Given the description of an element on the screen output the (x, y) to click on. 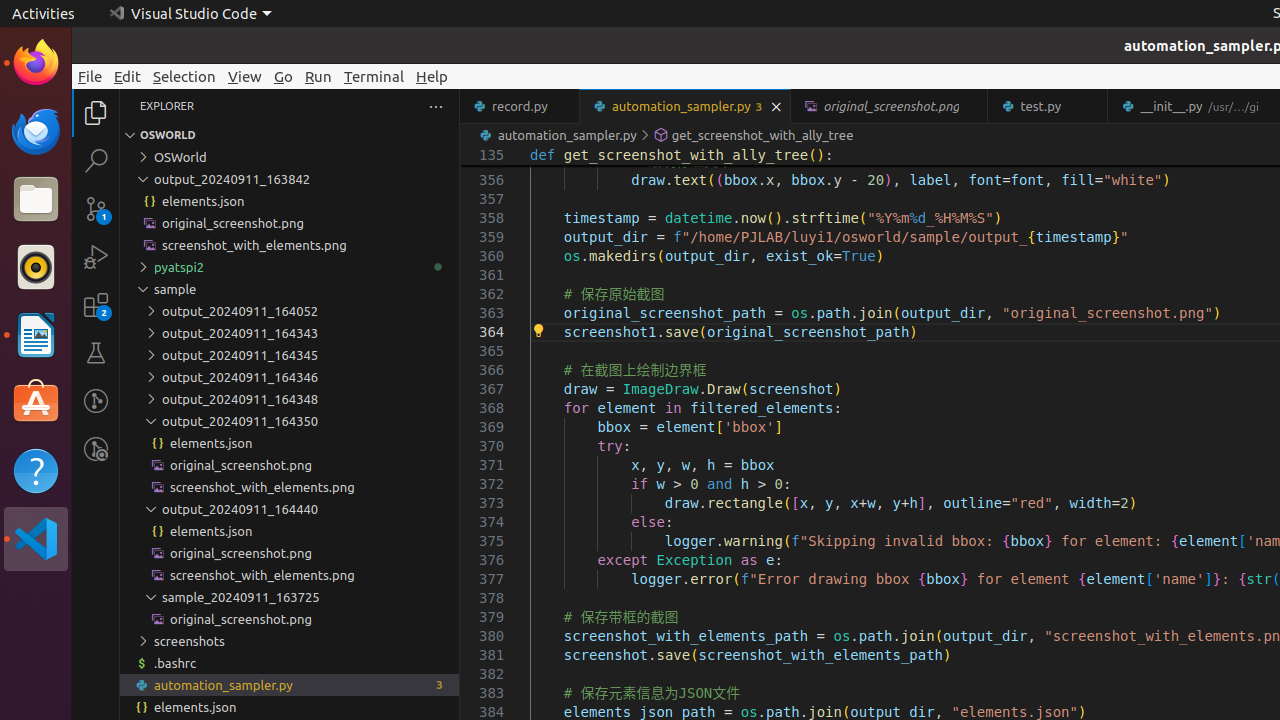
output_20240911_164343 Element type: tree-item (289, 333)
output_20240911_164345 Element type: tree-item (289, 355)
Extensions (Ctrl+Shift+X) - 2 require update Element type: page-tab (96, 305)
Firefox Web Browser Element type: push-button (36, 63)
OSWorld Element type: tree-item (289, 157)
